Given the description of an element on the screen output the (x, y) to click on. 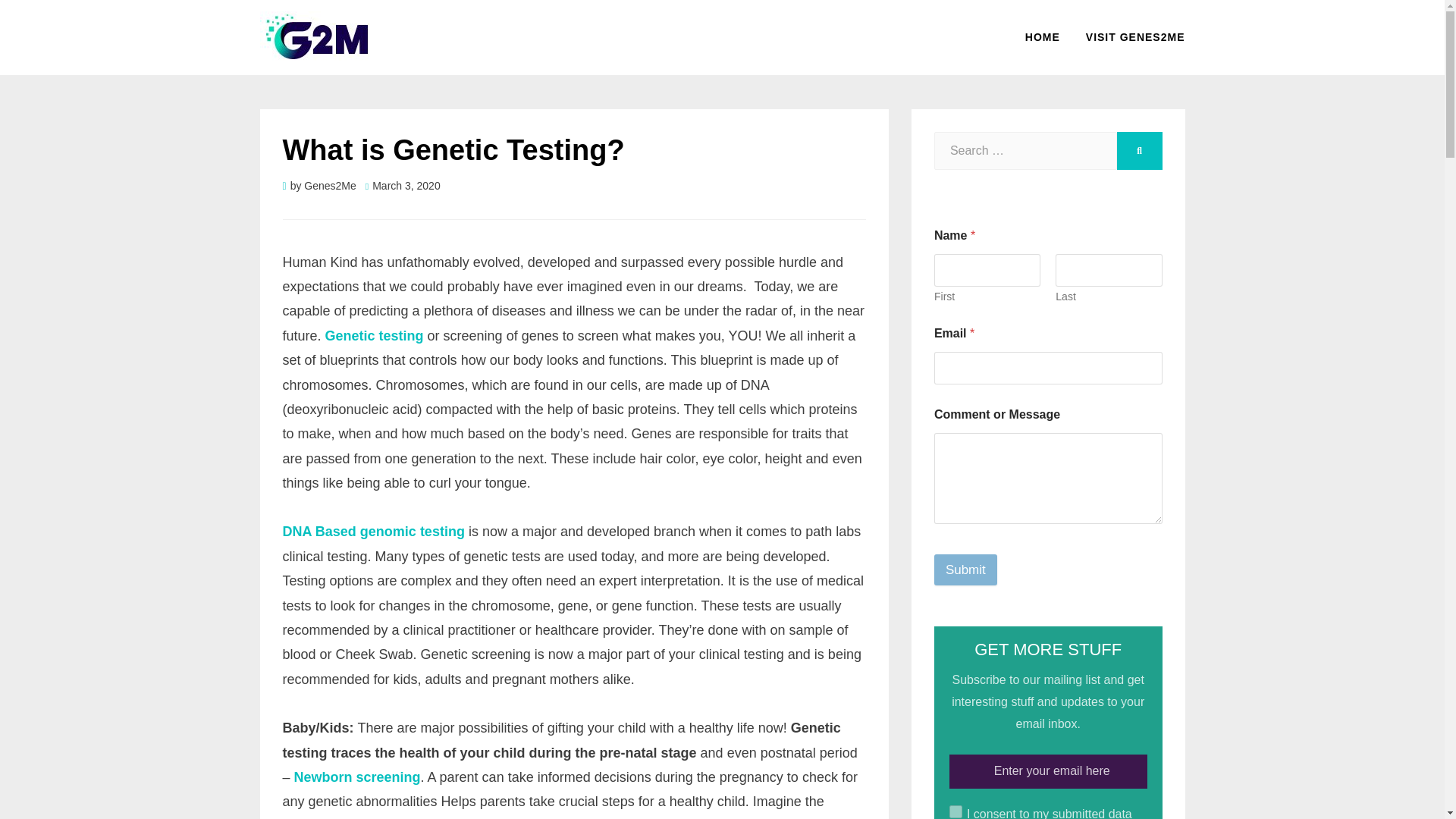
DNA Based genomi (344, 531)
Submit (965, 569)
VISIT GENES2ME (1129, 36)
Search for: (1025, 150)
Enter your email here (1048, 771)
Genes2Me (329, 185)
March 3, 2020 (403, 185)
HOME (1042, 36)
Genetic testing (373, 335)
Newborn screening (357, 776)
